Given the description of an element on the screen output the (x, y) to click on. 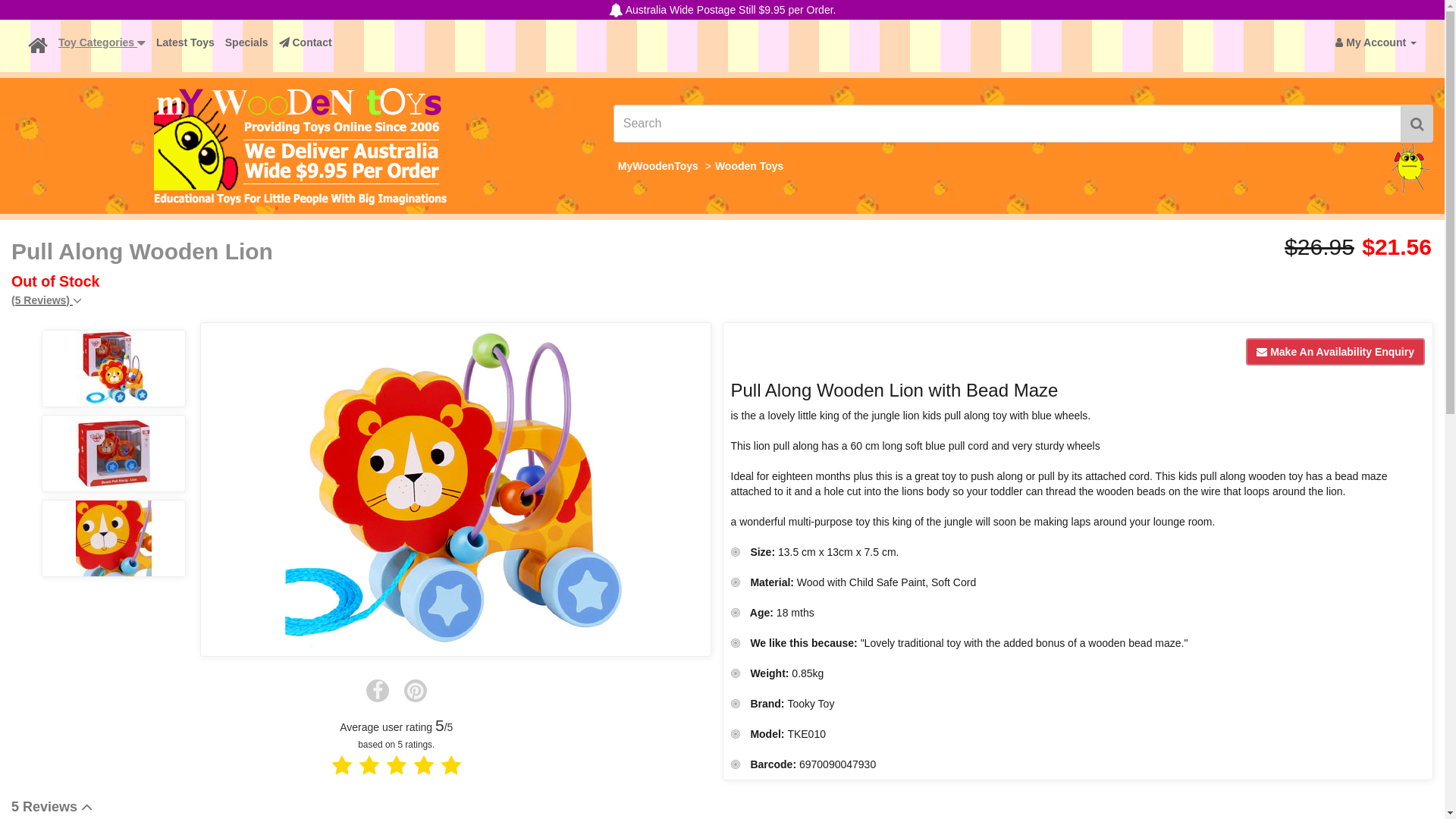
Latest Toys Element type: text (184, 42)
My Wooden Toys Element type: hover (300, 145)
MyWoodenToys Element type: text (658, 166)
Specials Element type: text (246, 42)
Wooden Toys Element type: text (749, 166)
My Account Element type: text (1375, 42)
Toy Categories Element type: text (101, 42)
(5 Reviews)  Element type: text (46, 300)
Pull Along Wooden Lion Detail-Two Element type: hover (113, 453)
Make An Availability Enquiry Element type: text (1334, 351)
Pull Along Wooden Lion Detail-Three Element type: hover (113, 538)
Contact Element type: text (305, 42)
mcgosh-icon Element type: hover (1410, 169)
5 Reviews  Element type: text (51, 806)
Pull Along Wooden Lion Detail Element type: hover (113, 368)
Pull Along Wooden Lion Element type: hover (455, 489)
